Given the description of an element on the screen output the (x, y) to click on. 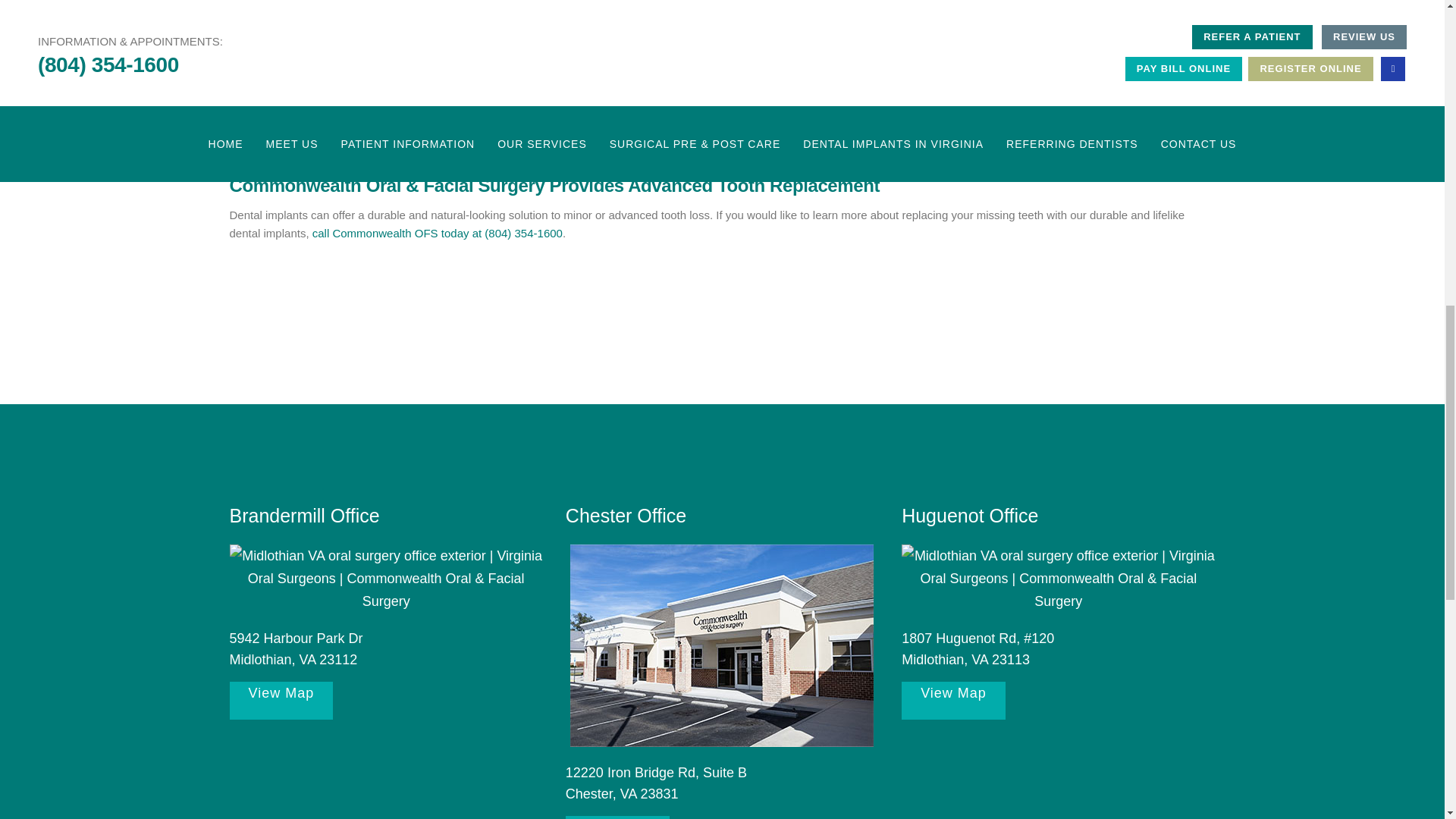
commonwealth-OFS-midlothian-VA-oral-surgery (1057, 578)
commonwealth-OFS-chester-VA-oral-surgery (721, 645)
commonwealth-OFS-midlothian-VA-oral-surgery-2 (384, 578)
